Given the description of an element on the screen output the (x, y) to click on. 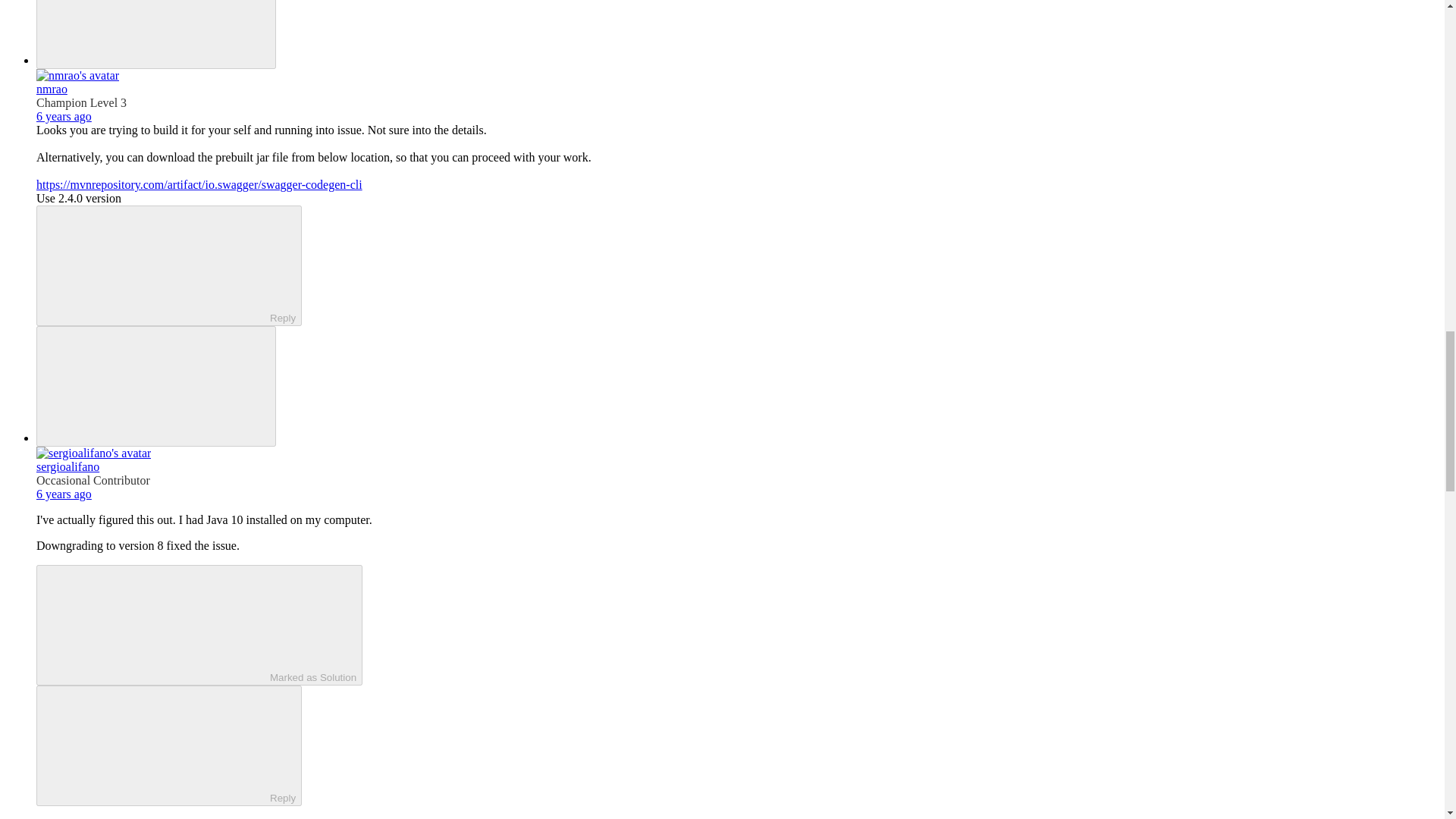
ReplyReply (168, 265)
Reply (155, 744)
sergioalifano (67, 466)
nmrao (51, 88)
January 14, 2019 at 7:17 PM (63, 493)
6 years ago (63, 115)
January 14, 2019 at 6:11 PM (63, 115)
Reply (155, 264)
Marked as Solution (199, 625)
ReplyReply (168, 745)
6 years ago (63, 493)
